Given the description of an element on the screen output the (x, y) to click on. 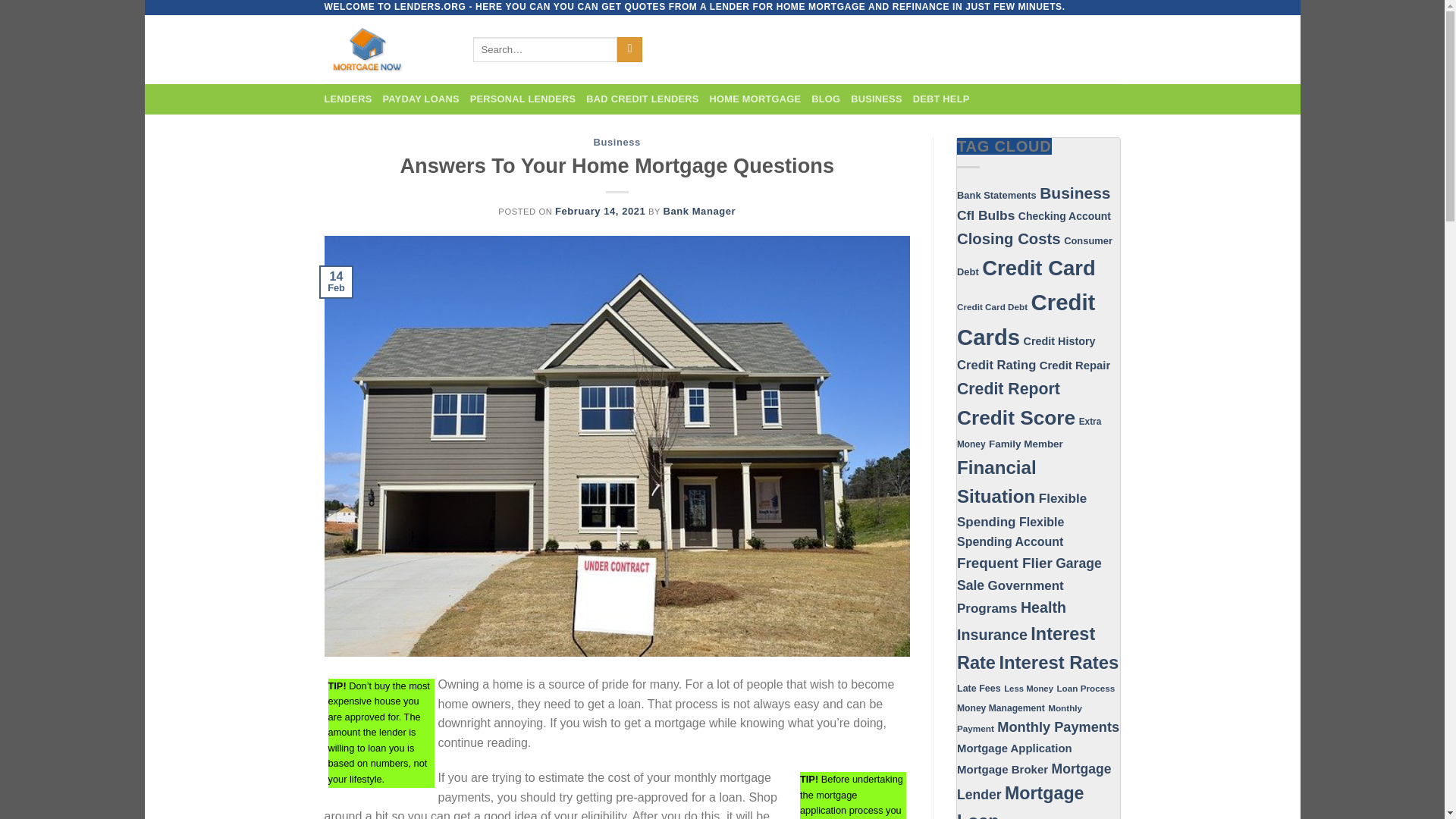
Credit Rating (995, 364)
PERSONAL LENDERS (523, 99)
Credit Card Debt (991, 307)
Credit Card (1038, 268)
Business (1074, 192)
Credit History (1059, 340)
DEBT HELP (940, 99)
Business (617, 142)
PAYDAY LOANS (419, 99)
Checking Account (1063, 215)
